Given the description of an element on the screen output the (x, y) to click on. 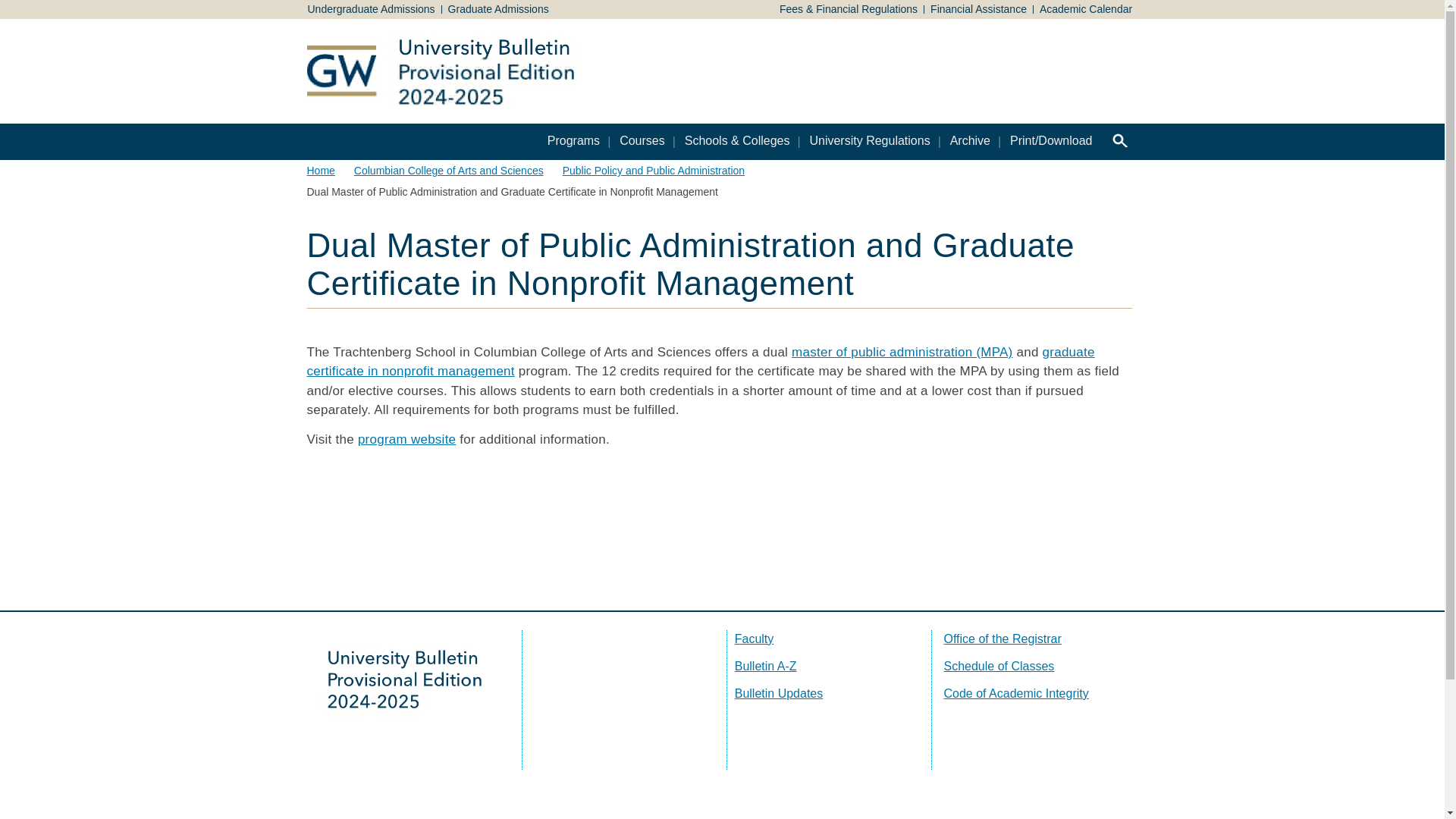
Courses (642, 141)
Graduate Admissions (498, 9)
Home (1085, 9)
Programs (319, 170)
Columbian College of Arts and Sciences (978, 9)
Archive (573, 141)
University Regulations (448, 170)
